Given the description of an element on the screen output the (x, y) to click on. 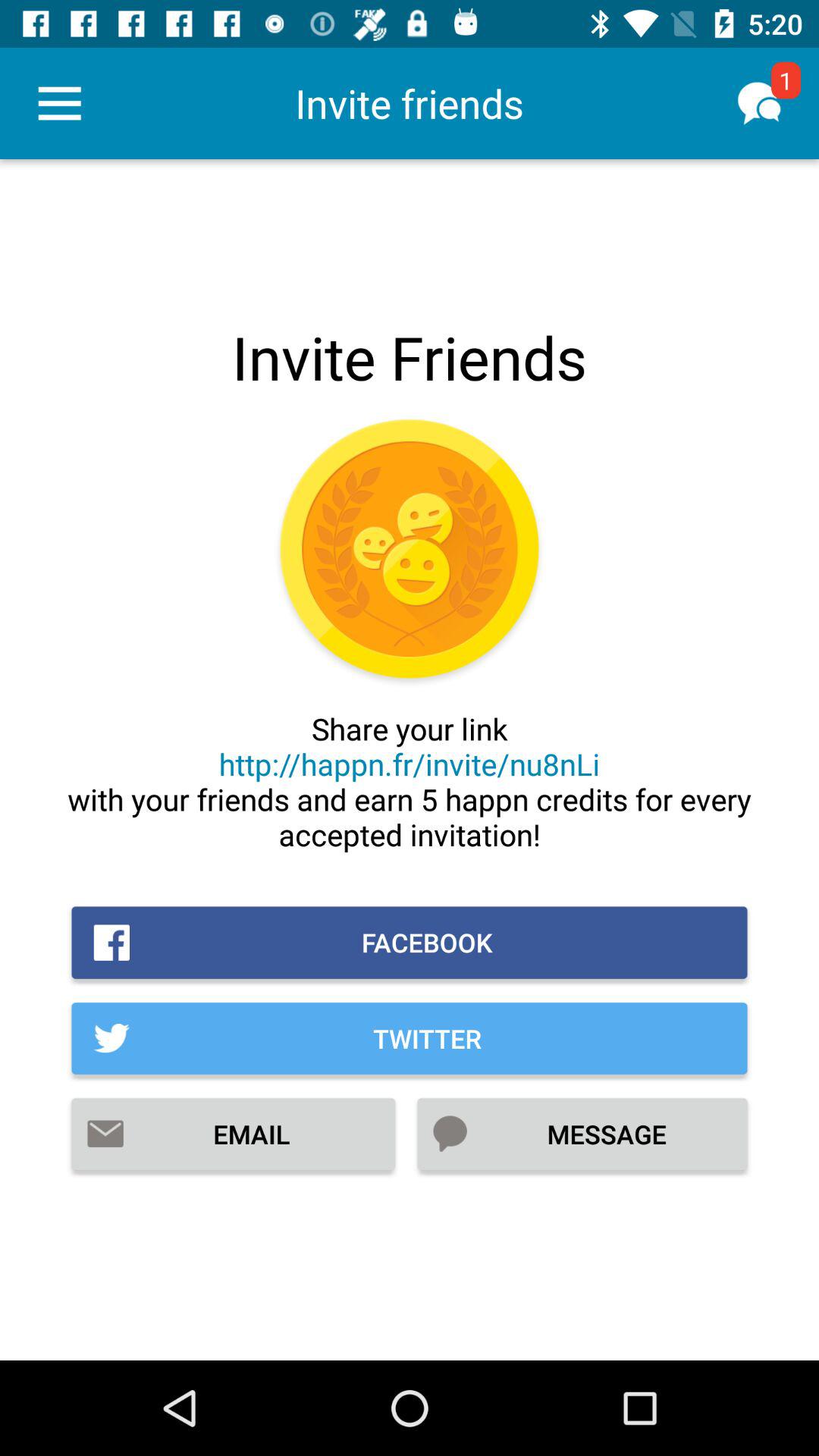
tap message item (582, 1133)
